Given the description of an element on the screen output the (x, y) to click on. 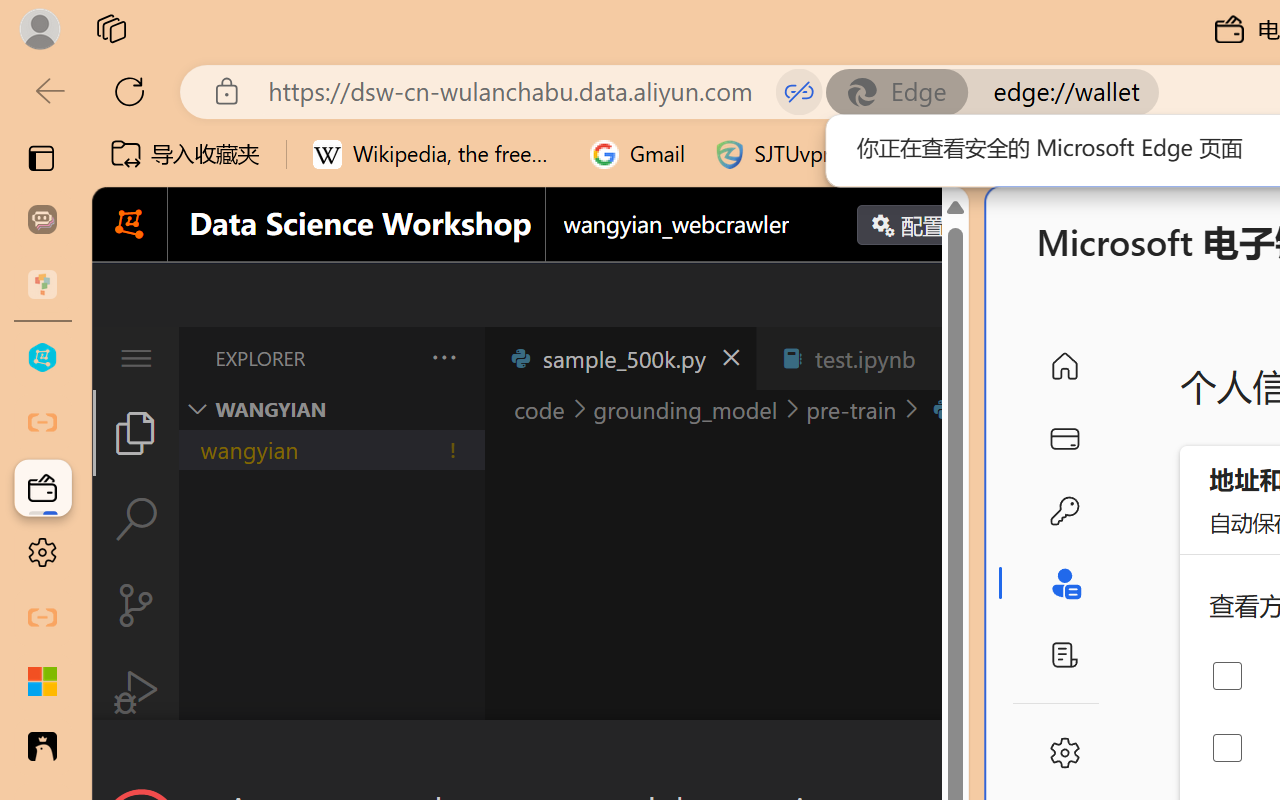
Views and More Actions... (442, 357)
Application Menu (135, 358)
sample_500k.py (619, 358)
Run and Debug (Ctrl+Shift+D) (135, 692)
Tab actions (945, 358)
